Given the description of an element on the screen output the (x, y) to click on. 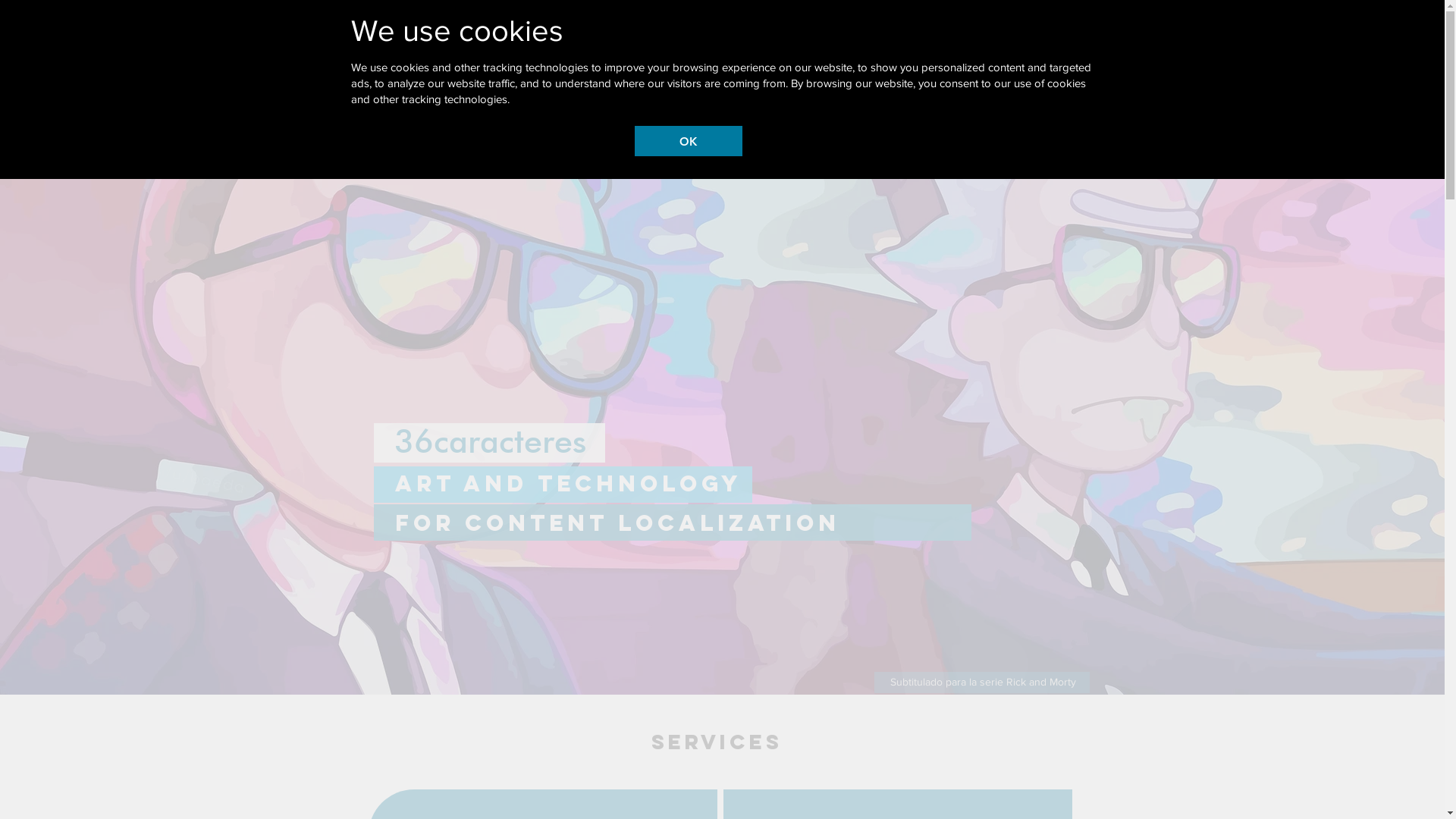
News Element type: text (828, 28)
Contact Element type: text (976, 28)
Inicio Element type: text (688, 28)
Portfolio Element type: text (900, 28)
SERVICES Element type: text (717, 741)
Services Element type: text (758, 28)
